Given the description of an element on the screen output the (x, y) to click on. 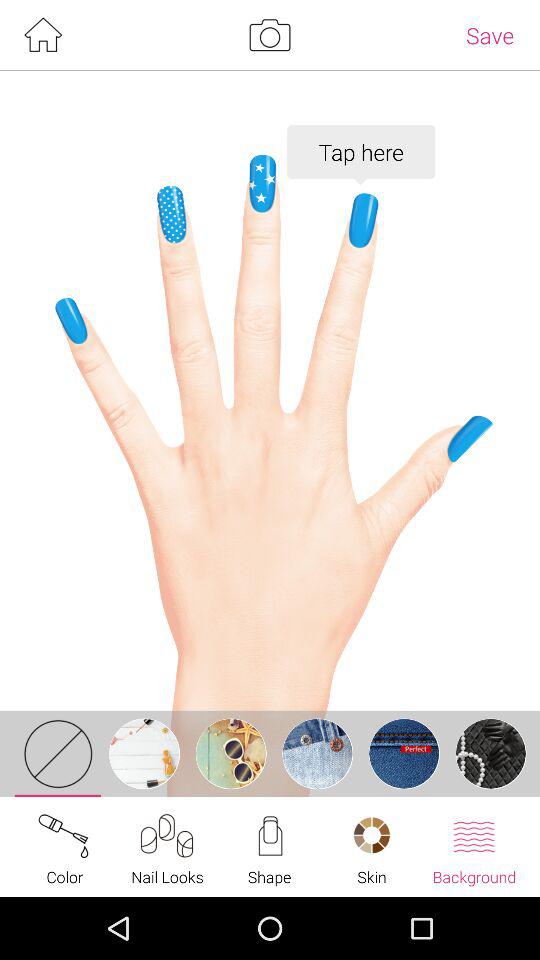
click on fifth icon which is above the skin tab (403, 754)
select the fourth icon which is on the grey bar (317, 754)
click on home icon which is at the top left corner (42, 35)
click on the circular image which is above nail looks (144, 754)
go the option which is left of the nail looks (65, 846)
select the third image which is in between the texts nail looks and shape (231, 754)
